Given the description of an element on the screen output the (x, y) to click on. 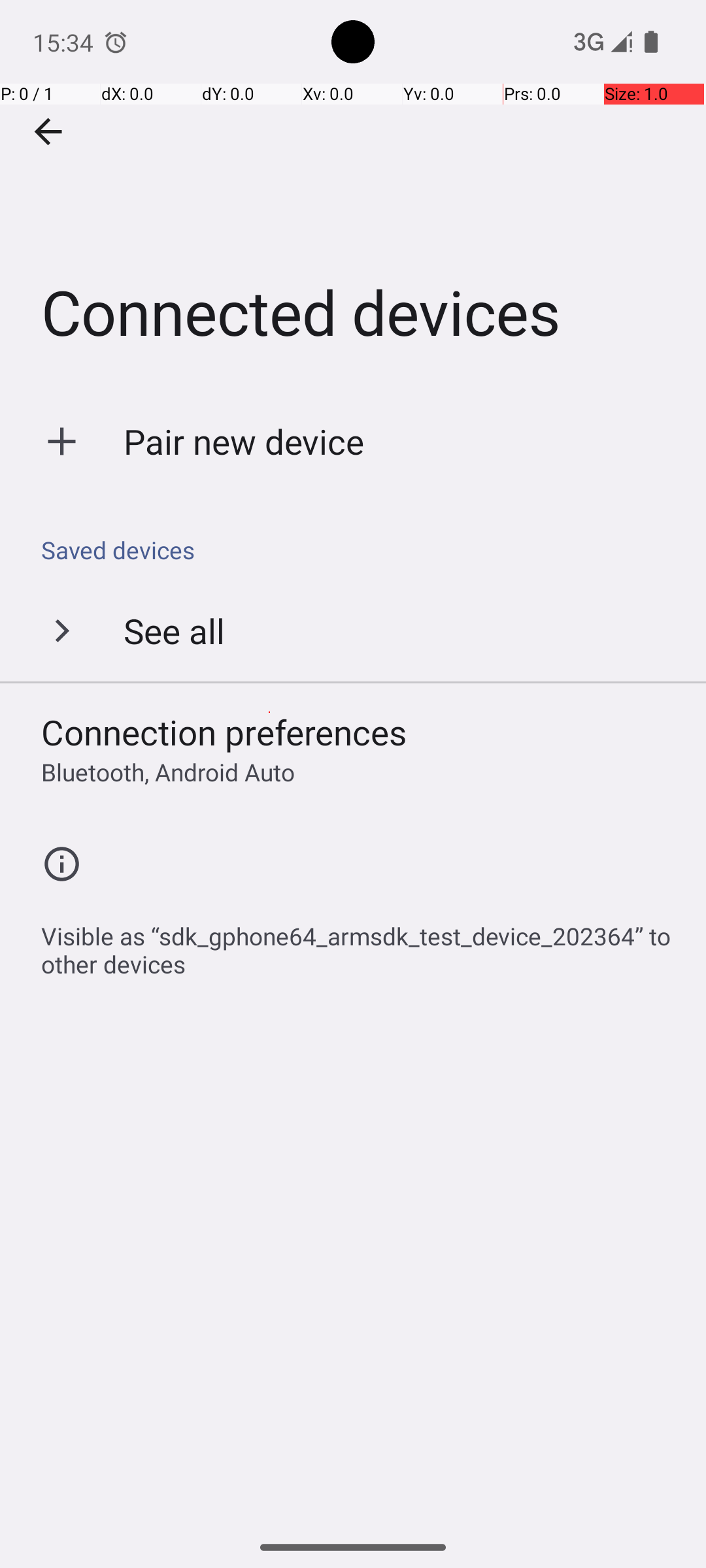
Visible as “sdk_gphone64_armsdk_test_device_202364” to other devices Element type: android.widget.TextView (359, 942)
